Given the description of an element on the screen output the (x, y) to click on. 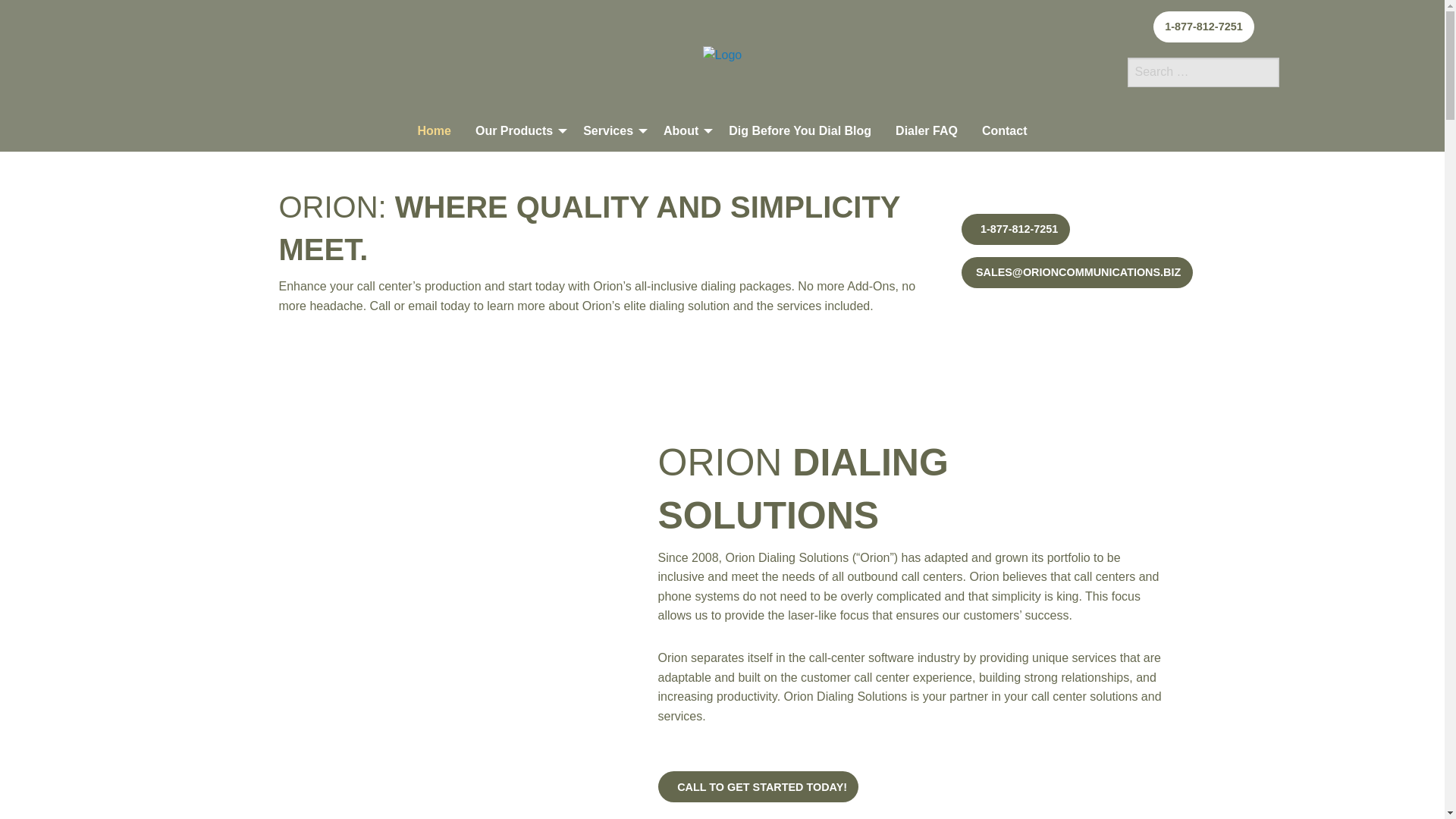
Search for: (1202, 71)
Local: 1-877-812-7251 (1015, 228)
Local: 1-877-812-7251 (1202, 26)
About (683, 131)
CALL TO GET STARTED TODAY!: 1-877-812-7251 (758, 787)
Search (25, 9)
Our Products (516, 131)
1-877-812-7251 (1202, 26)
Services (610, 131)
Home (433, 131)
